Given the description of an element on the screen output the (x, y) to click on. 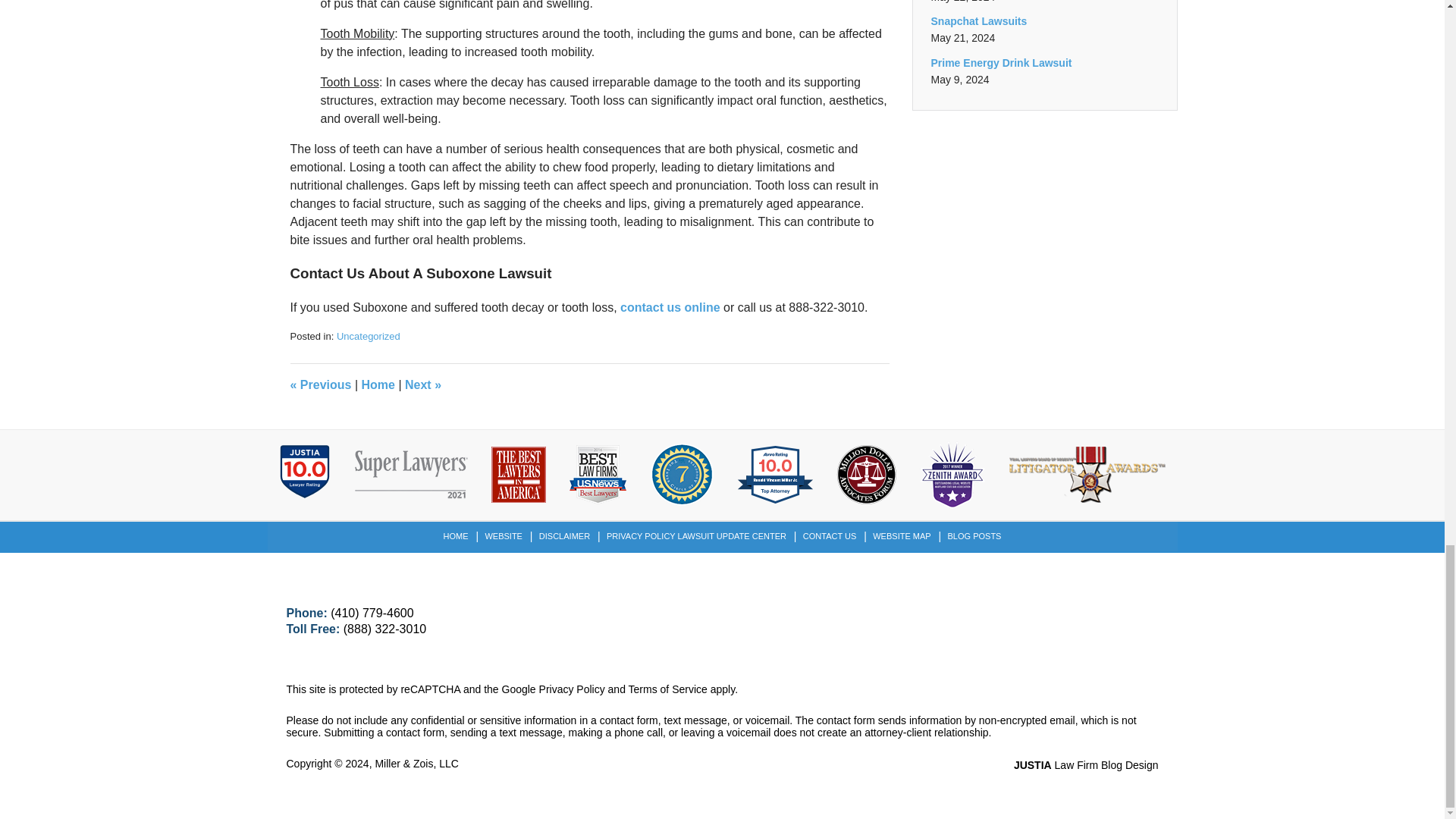
Who Qualifies for a Paraquat Lawsuit (422, 384)
Uncategorized (368, 336)
View all posts in Uncategorized (368, 336)
contact us online (670, 307)
Home (377, 384)
Who Qualifies for a CPAP Lawsuit? (319, 384)
